Given the description of an element on the screen output the (x, y) to click on. 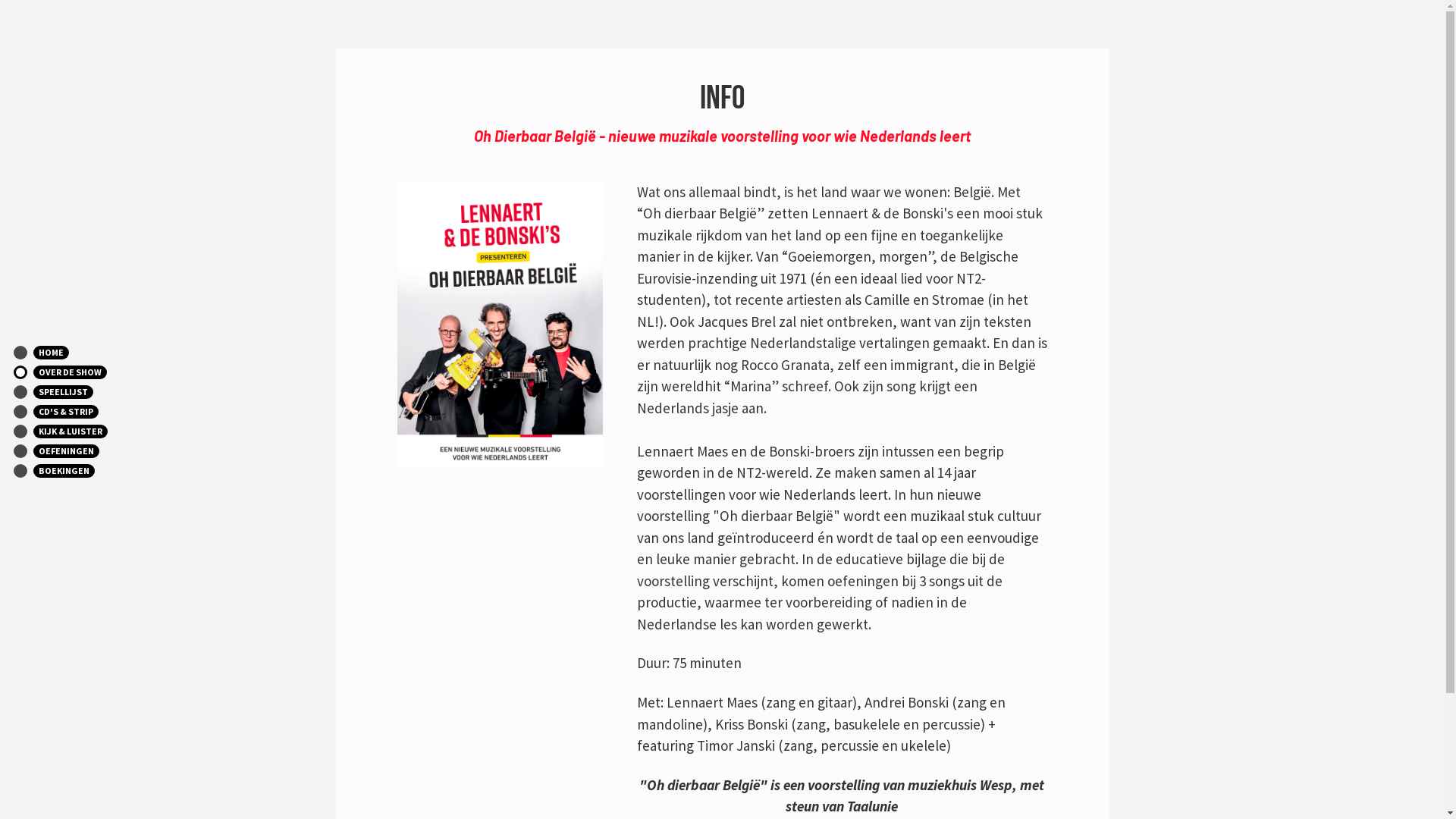
CD'S & STRIP Element type: text (82, 411)
BOEKINGEN Element type: text (82, 470)
HOME Element type: text (82, 352)
OVER DE SHOW Element type: text (82, 372)
SPEELLIJST Element type: text (82, 391)
KIJK & LUISTER Element type: text (82, 431)
OEFENINGEN Element type: text (82, 451)
